Given the description of an element on the screen output the (x, y) to click on. 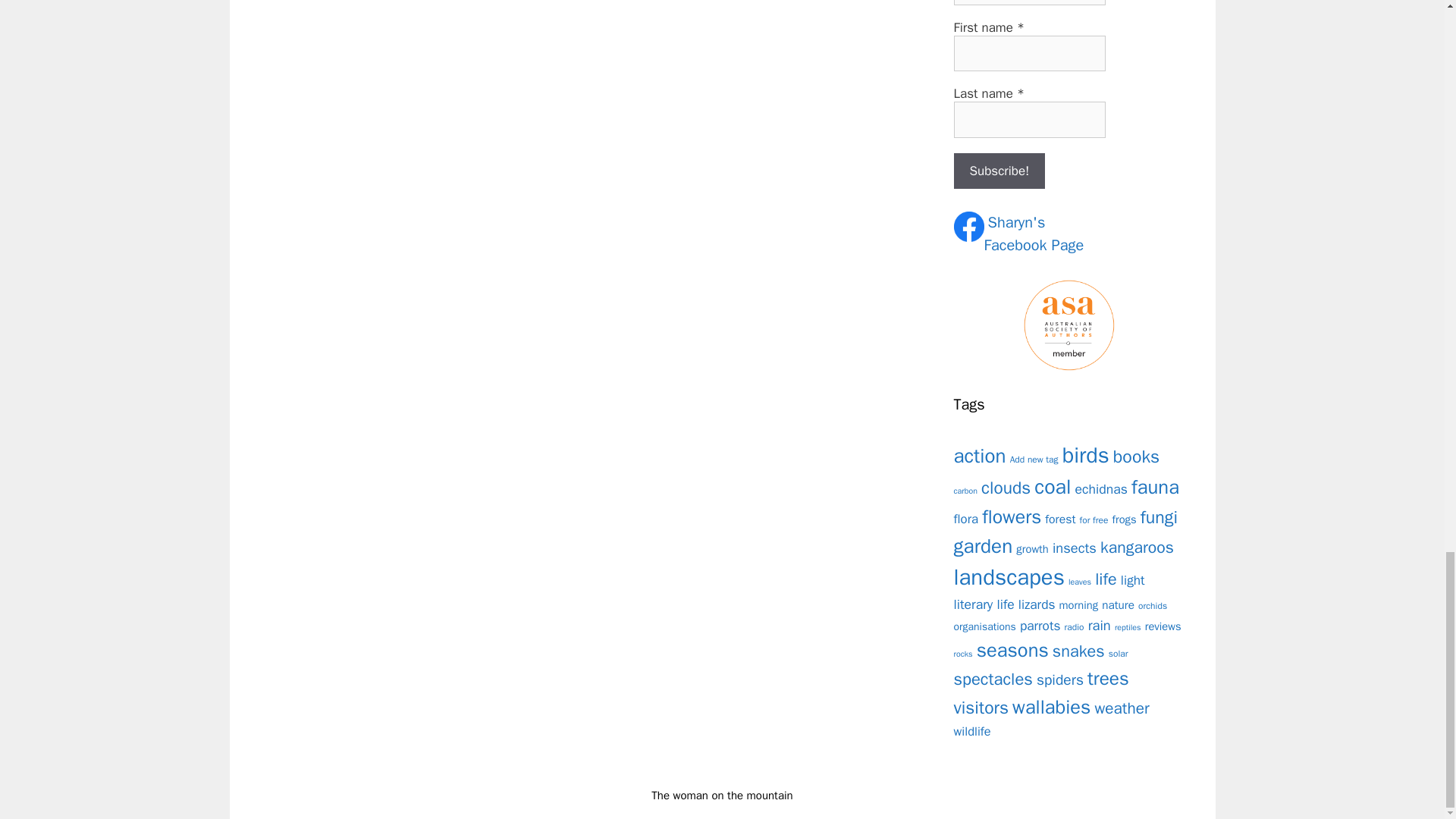
clouds (1005, 487)
for free (1094, 520)
forest (1060, 519)
fauna (1155, 487)
echidnas (1100, 488)
Add new tag (1034, 459)
birds (1085, 455)
action (979, 455)
coal (1051, 486)
books (1135, 456)
Subscribe! (999, 171)
Email (1029, 2)
flowers (1011, 516)
First name (1029, 54)
Subscribe! (999, 171)
